Given the description of an element on the screen output the (x, y) to click on. 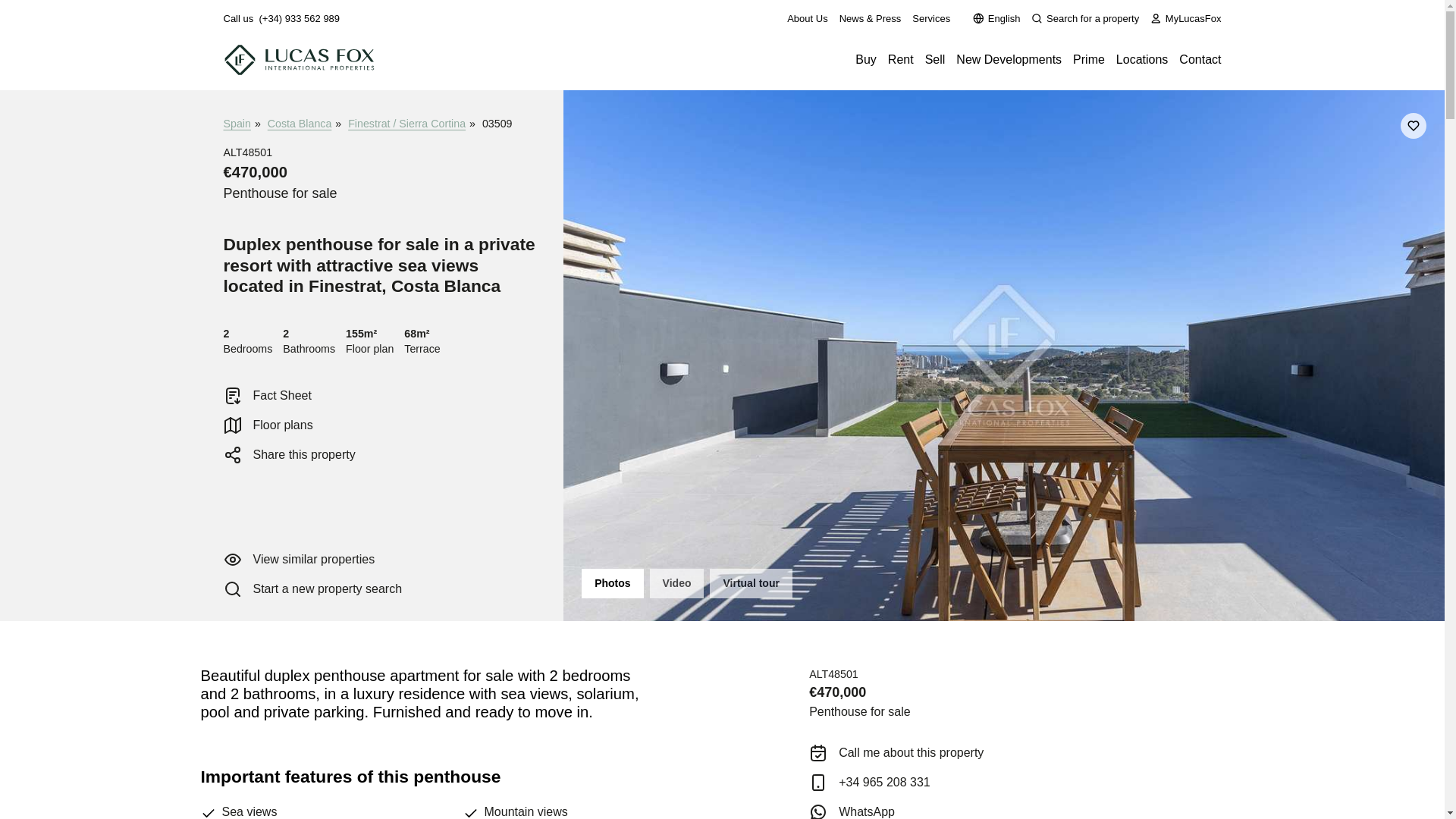
Search for a property (1084, 18)
MyLucasFox (1185, 18)
Prime (1089, 59)
About Us (807, 18)
Contact (1200, 59)
Lucas Fox Prime (1089, 59)
English (996, 18)
Buy (866, 59)
Sell (934, 59)
New Developments (1008, 59)
Contact (1200, 59)
Rent (901, 59)
Sell or rent your property (934, 59)
Locations (1142, 59)
